Given the description of an element on the screen output the (x, y) to click on. 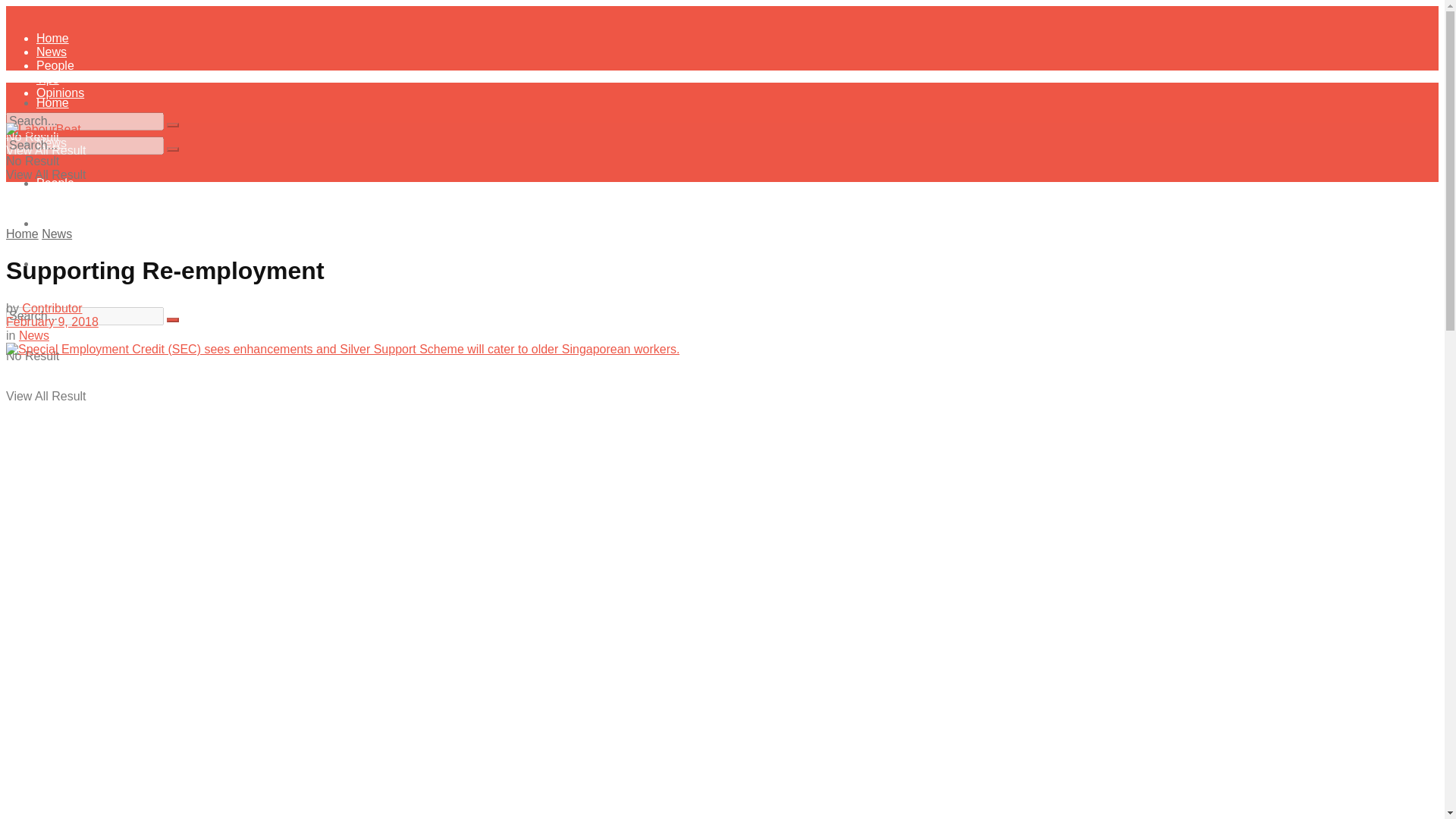
Tips (47, 78)
Home (52, 38)
Contributor (51, 308)
People (55, 182)
Opinions (60, 263)
News (56, 233)
Home (22, 233)
Tips (47, 223)
News (33, 335)
Opinions (60, 92)
